Given the description of an element on the screen output the (x, y) to click on. 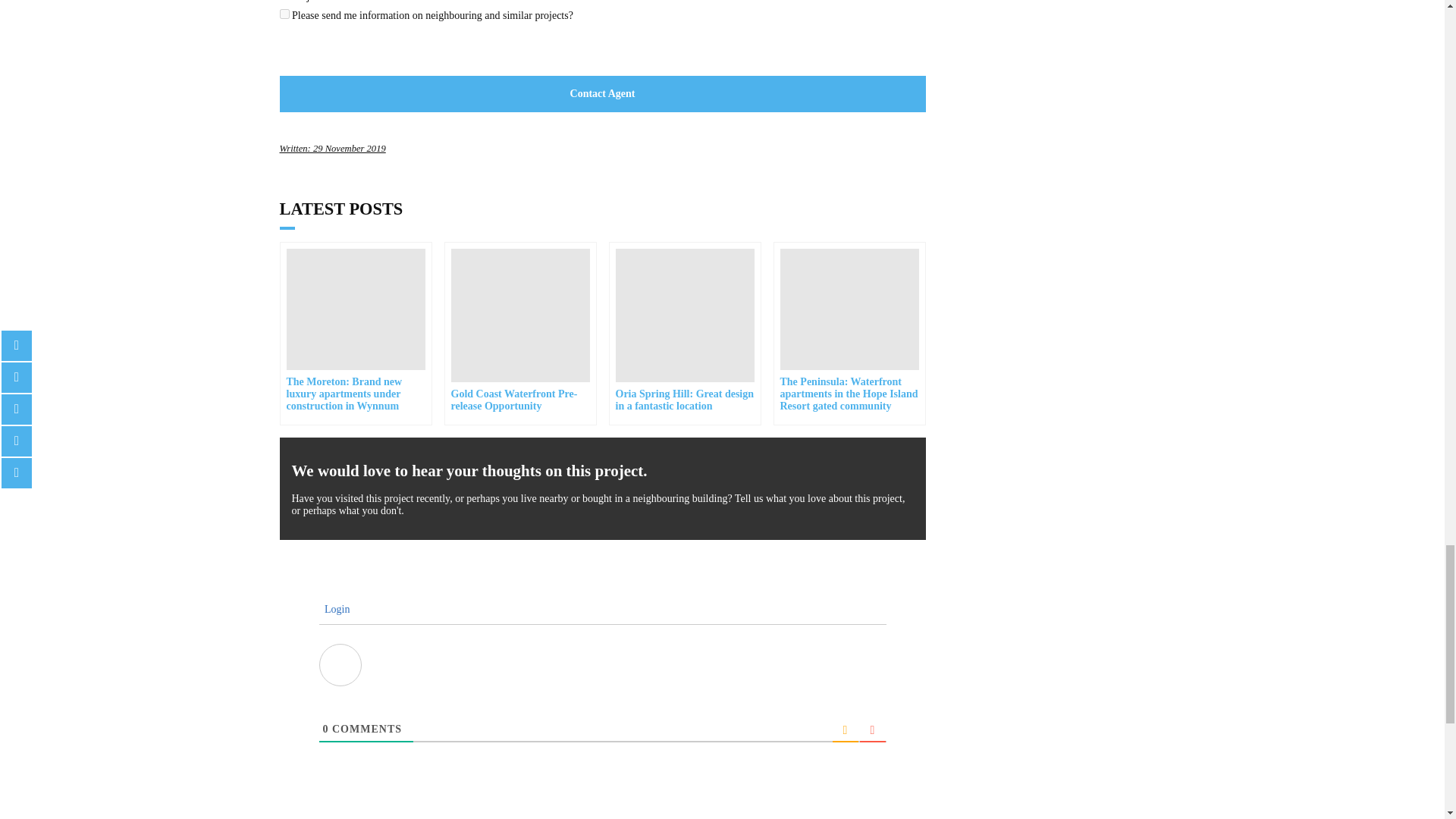
Contact Agent (601, 94)
Contact Agent (601, 94)
Login (334, 609)
